Given the description of an element on the screen output the (x, y) to click on. 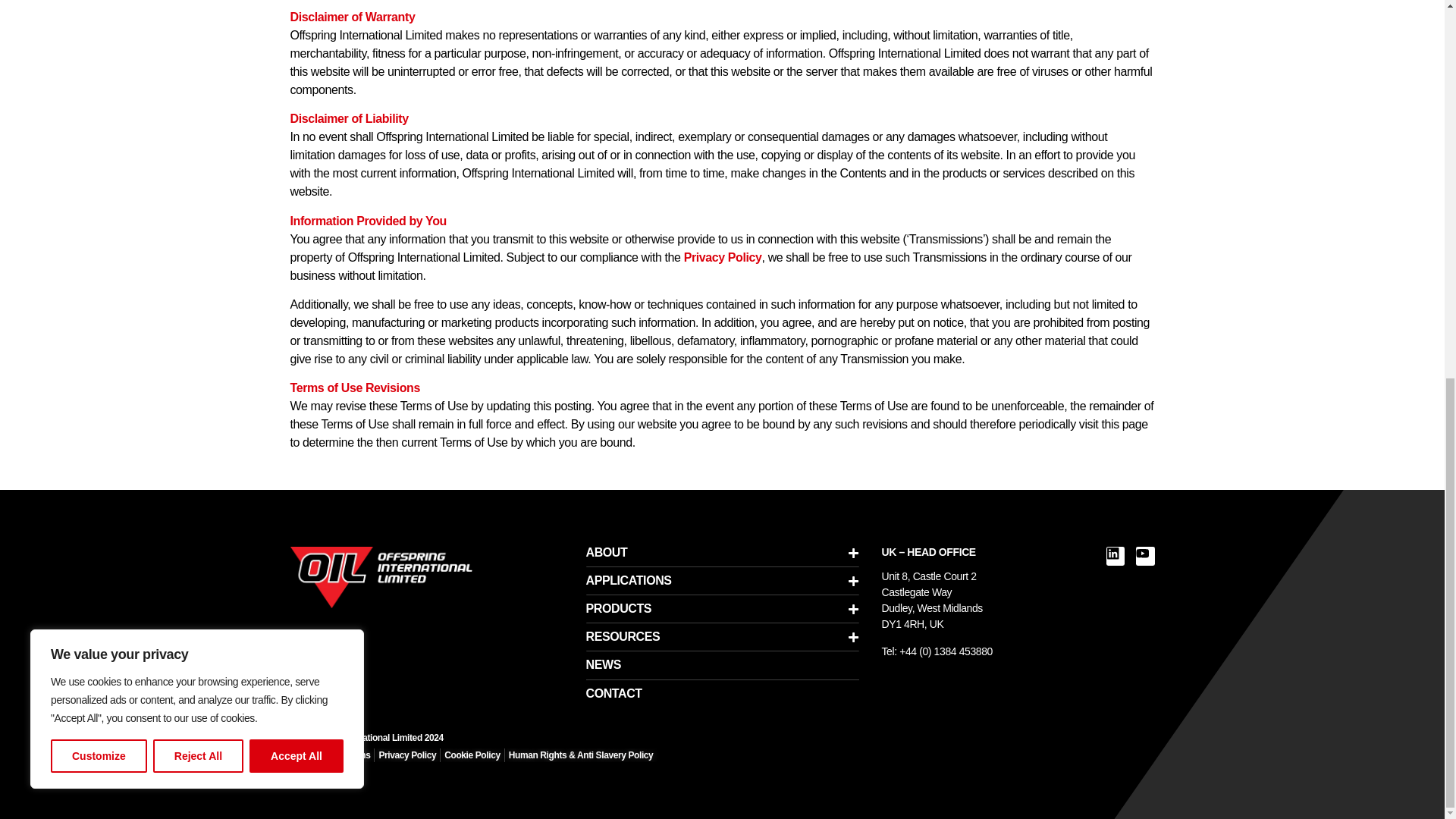
Reject All (197, 56)
Accept All (295, 56)
Customize (98, 56)
